Given the description of an element on the screen output the (x, y) to click on. 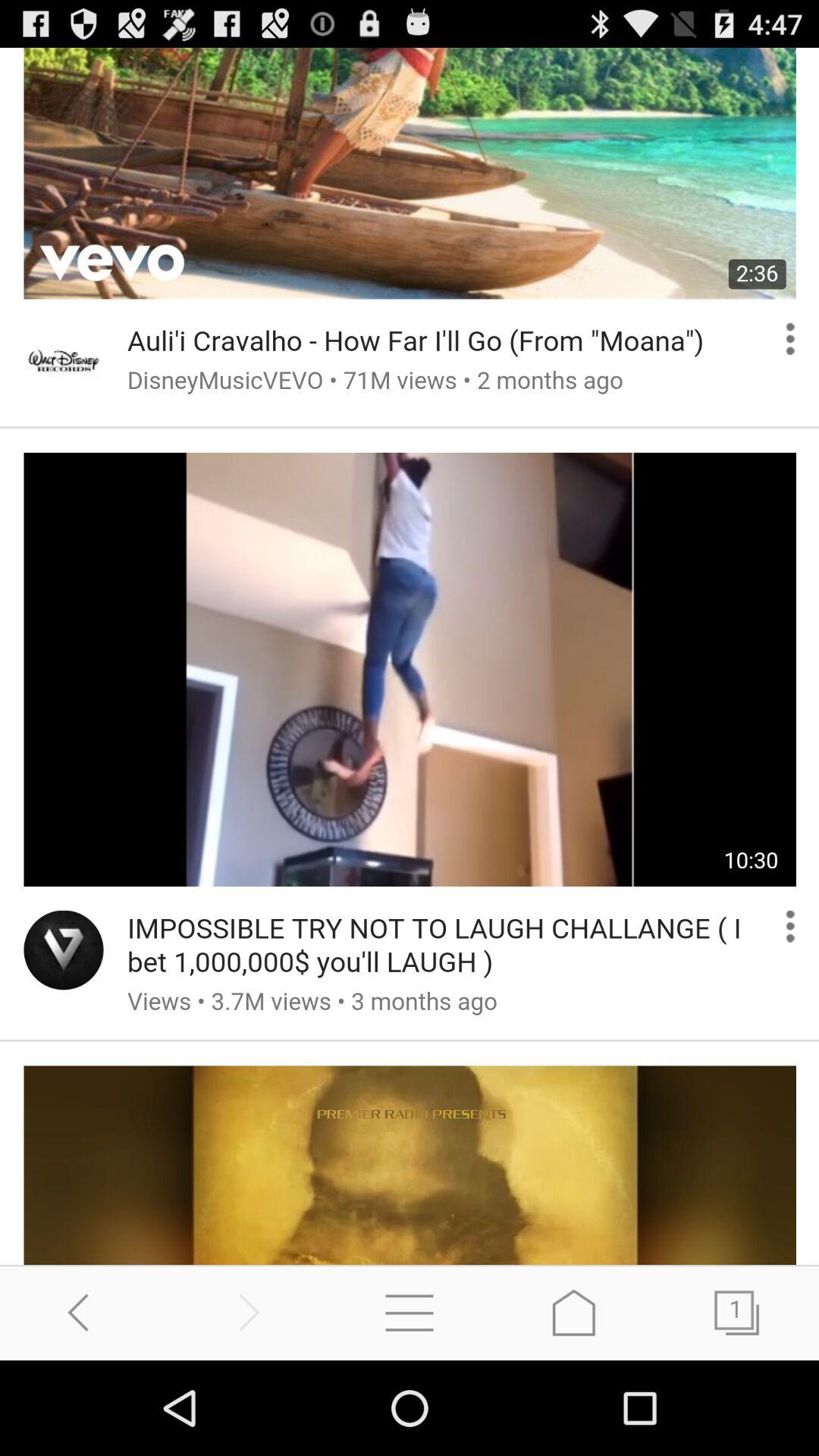
undo (81, 1312)
